Given the description of an element on the screen output the (x, y) to click on. 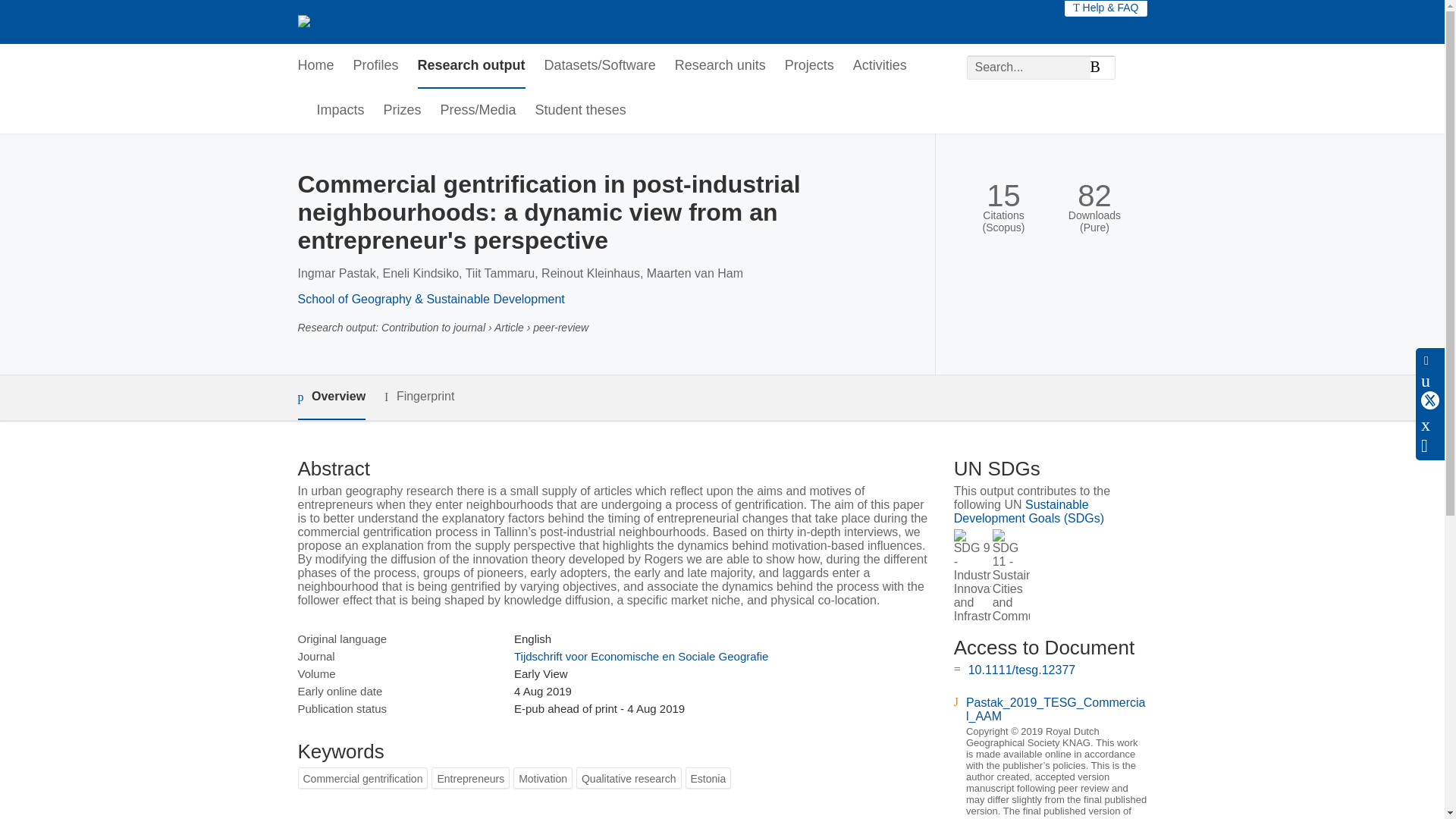
Student theses (580, 110)
Overview (331, 397)
Projects (809, 66)
Profiles (375, 66)
Impacts (341, 110)
Fingerprint (419, 396)
University of St Andrews Research Portal Home (429, 21)
Activities (880, 66)
Research units (720, 66)
